Given the description of an element on the screen output the (x, y) to click on. 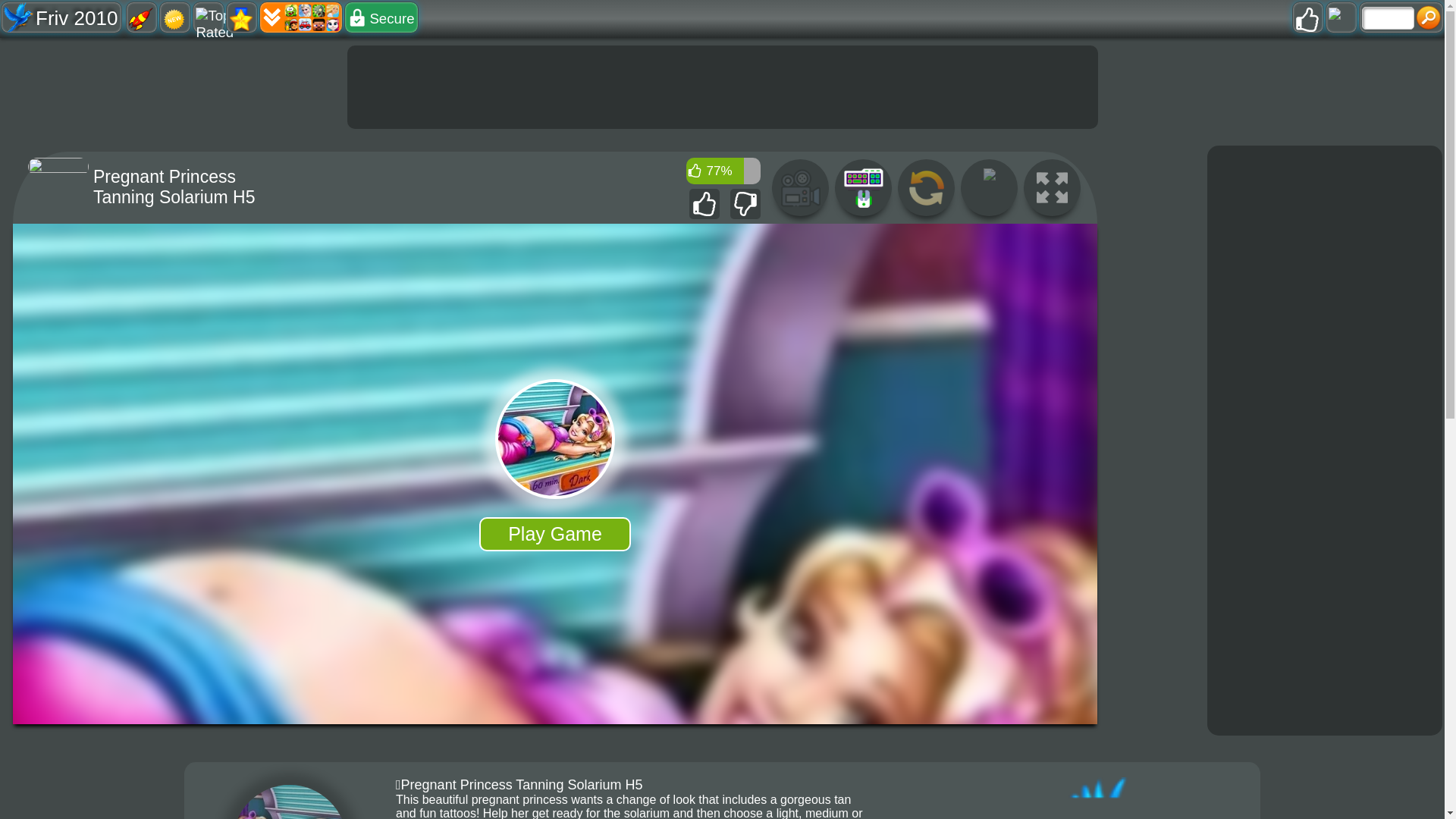
Friv 2010 (61, 17)
Secure (380, 17)
Play Game (554, 533)
